Given the description of an element on the screen output the (x, y) to click on. 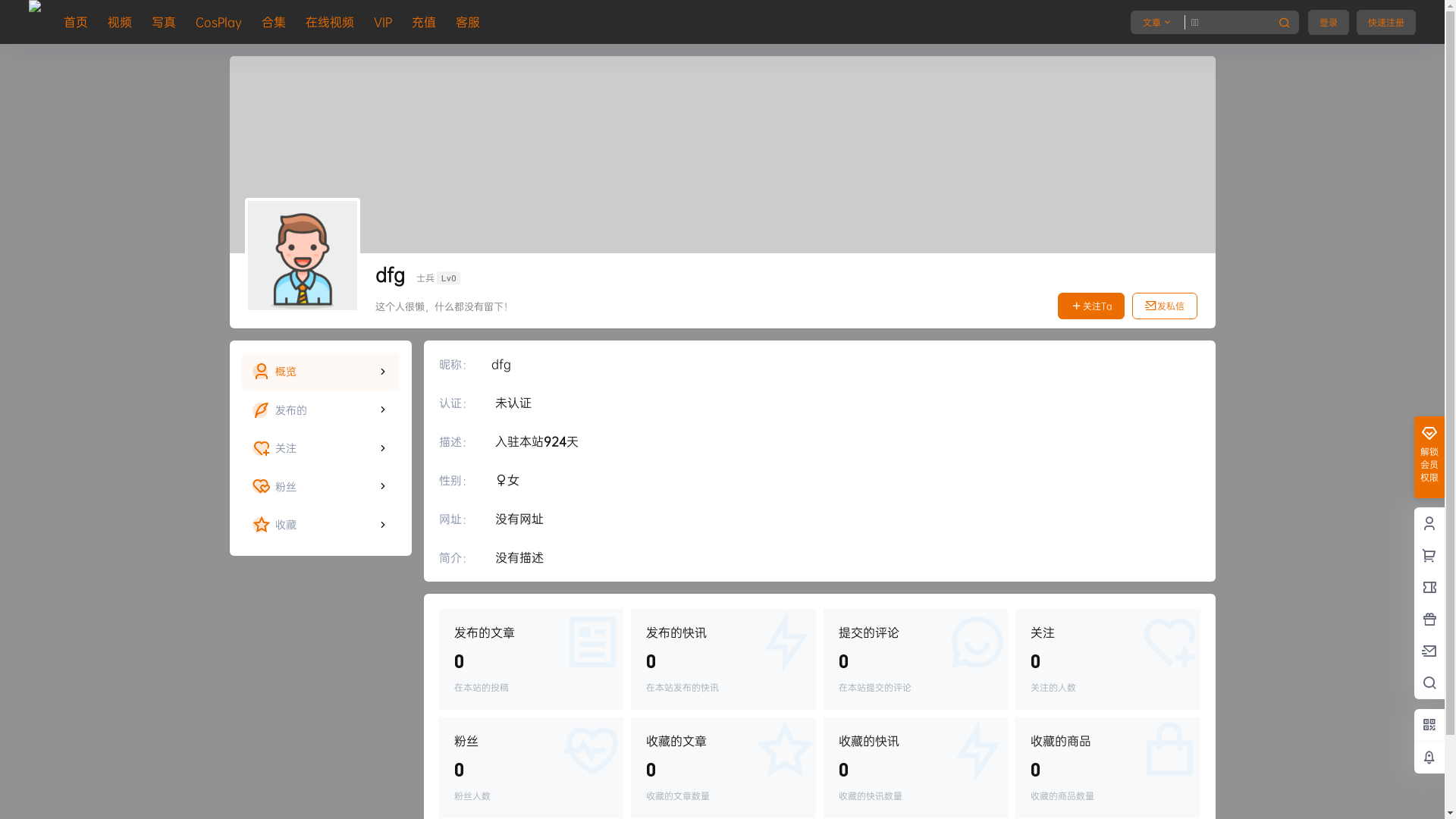
ok Element type: text (10, 12)
VIP Element type: text (382, 21)
CosPlay Element type: text (218, 21)
